Given the description of an element on the screen output the (x, y) to click on. 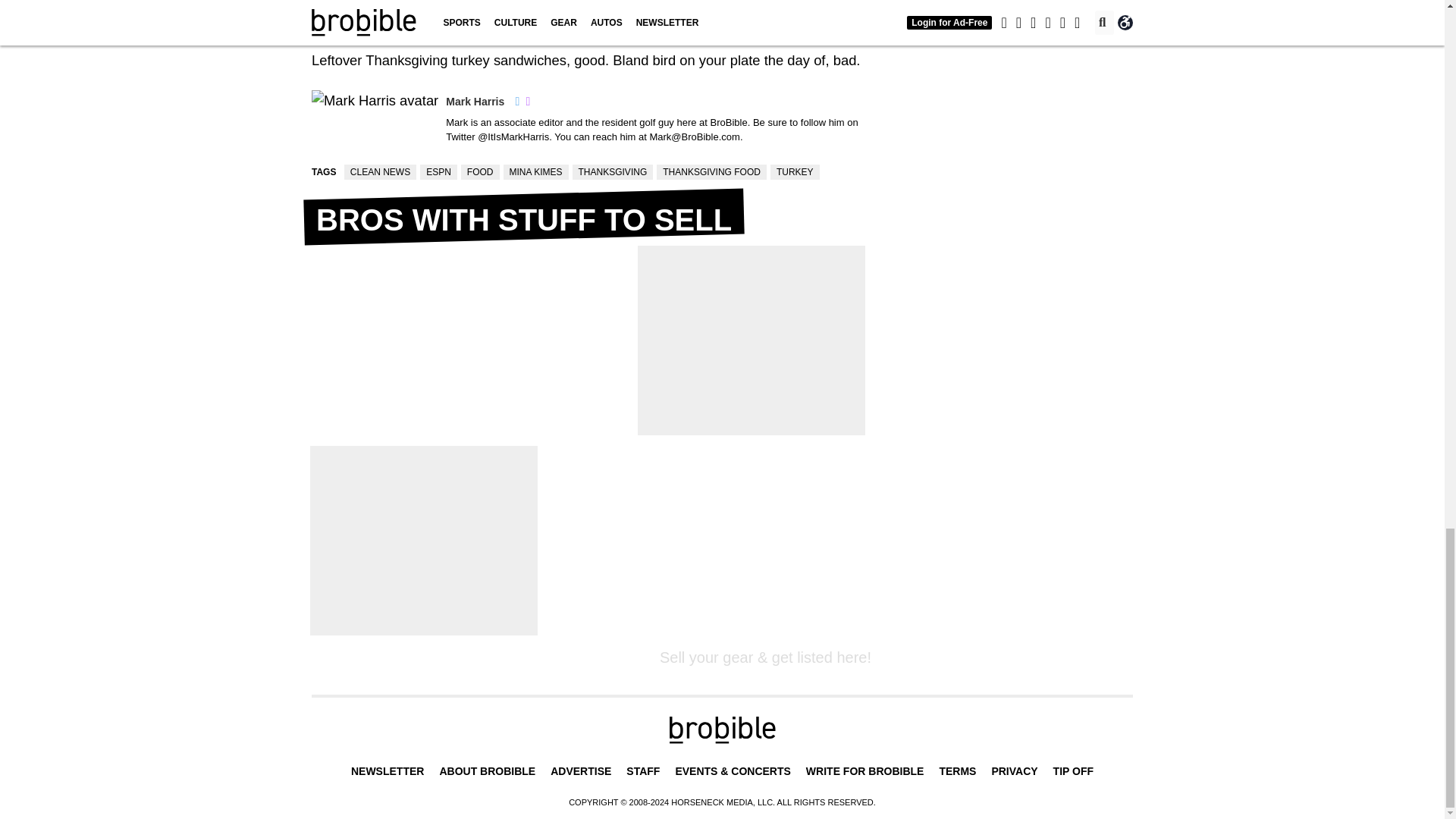
Posts by Mark Harris (474, 101)
